Given the description of an element on the screen output the (x, y) to click on. 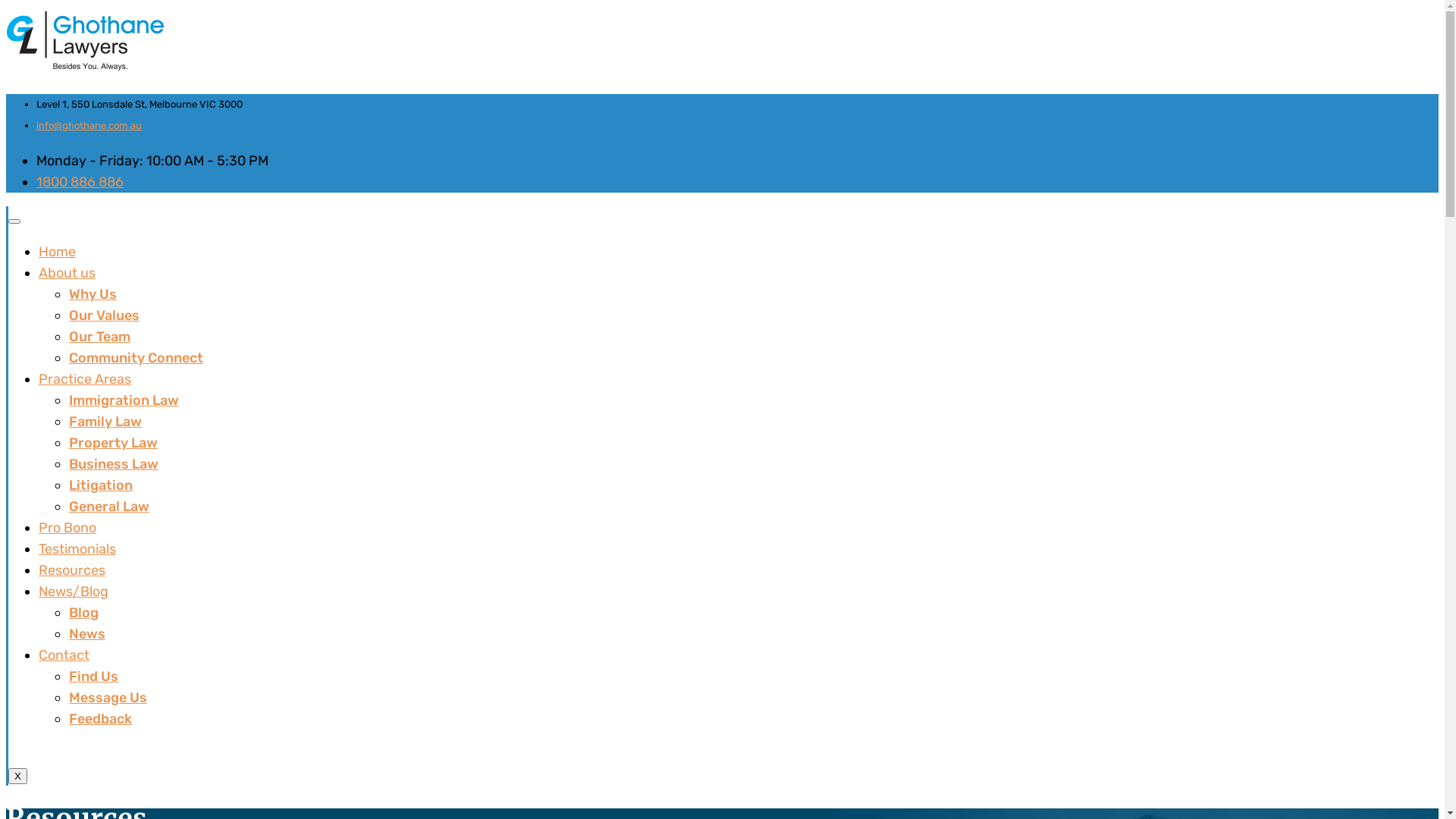
News Element type: text (87, 633)
News/Blog Element type: text (73, 591)
Pro Bono Element type: text (67, 527)
Resources Element type: text (71, 569)
Find Us Element type: text (93, 676)
Community Connect Element type: text (136, 357)
Testimonials Element type: text (77, 548)
Family Law Element type: text (105, 421)
General Law Element type: text (109, 506)
Our Team Element type: text (99, 336)
X Element type: text (17, 776)
Property Law Element type: text (113, 442)
Our Values Element type: text (104, 315)
Contact Element type: text (63, 654)
Practice Areas Element type: text (84, 378)
Blog Element type: text (83, 612)
1800 886 886 Element type: text (79, 181)
About us Element type: text (66, 272)
Home Element type: text (56, 251)
Message Us Element type: text (108, 697)
Litigation Element type: text (100, 484)
Feedback Element type: text (100, 718)
Immigration Law Element type: text (123, 400)
Business Law Element type: text (113, 463)
info@ghothane.com.au Element type: text (88, 125)
Why Us Element type: text (92, 293)
